Given the description of an element on the screen output the (x, y) to click on. 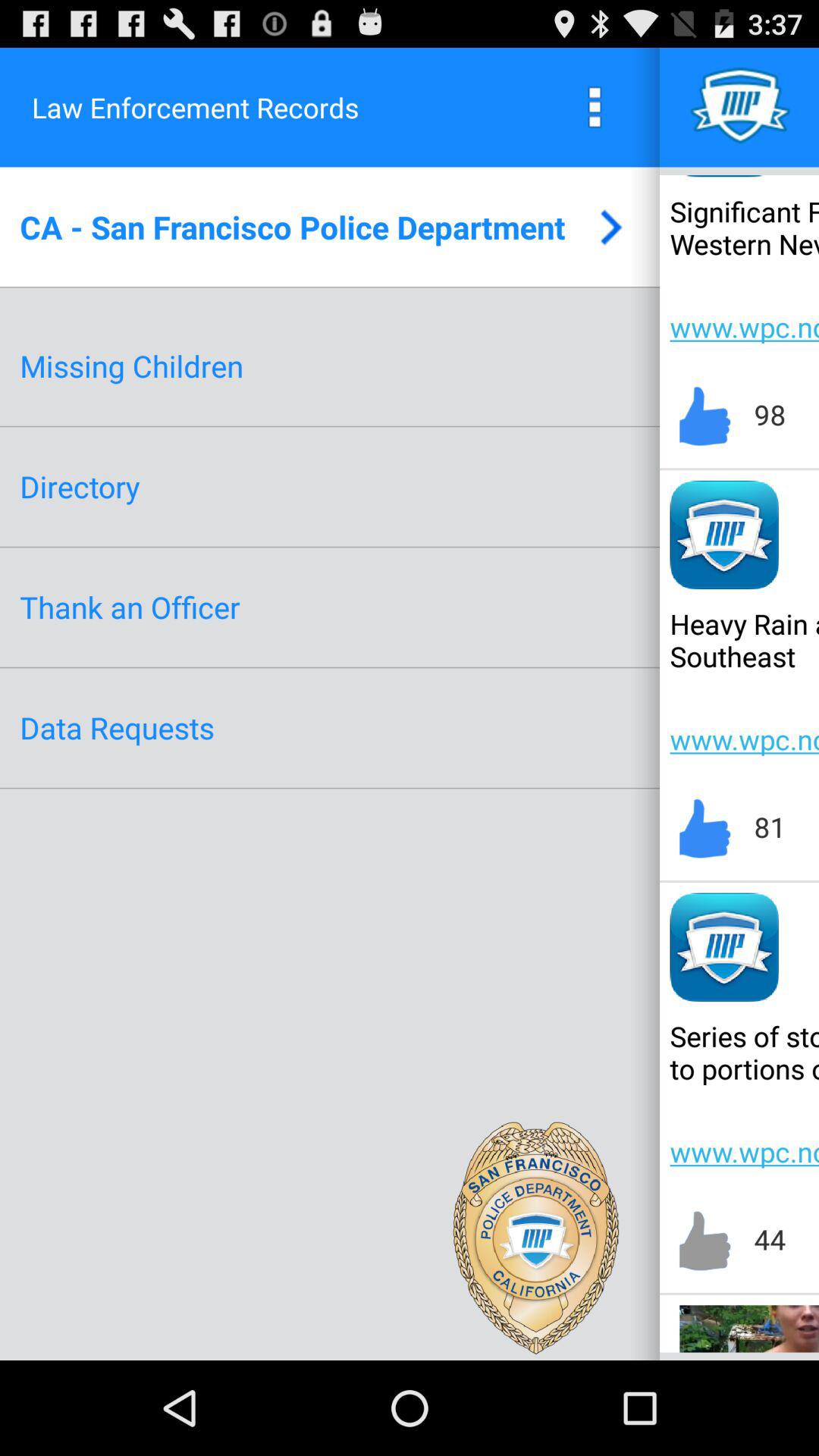
launch the icon above data requests (129, 606)
